Given the description of an element on the screen output the (x, y) to click on. 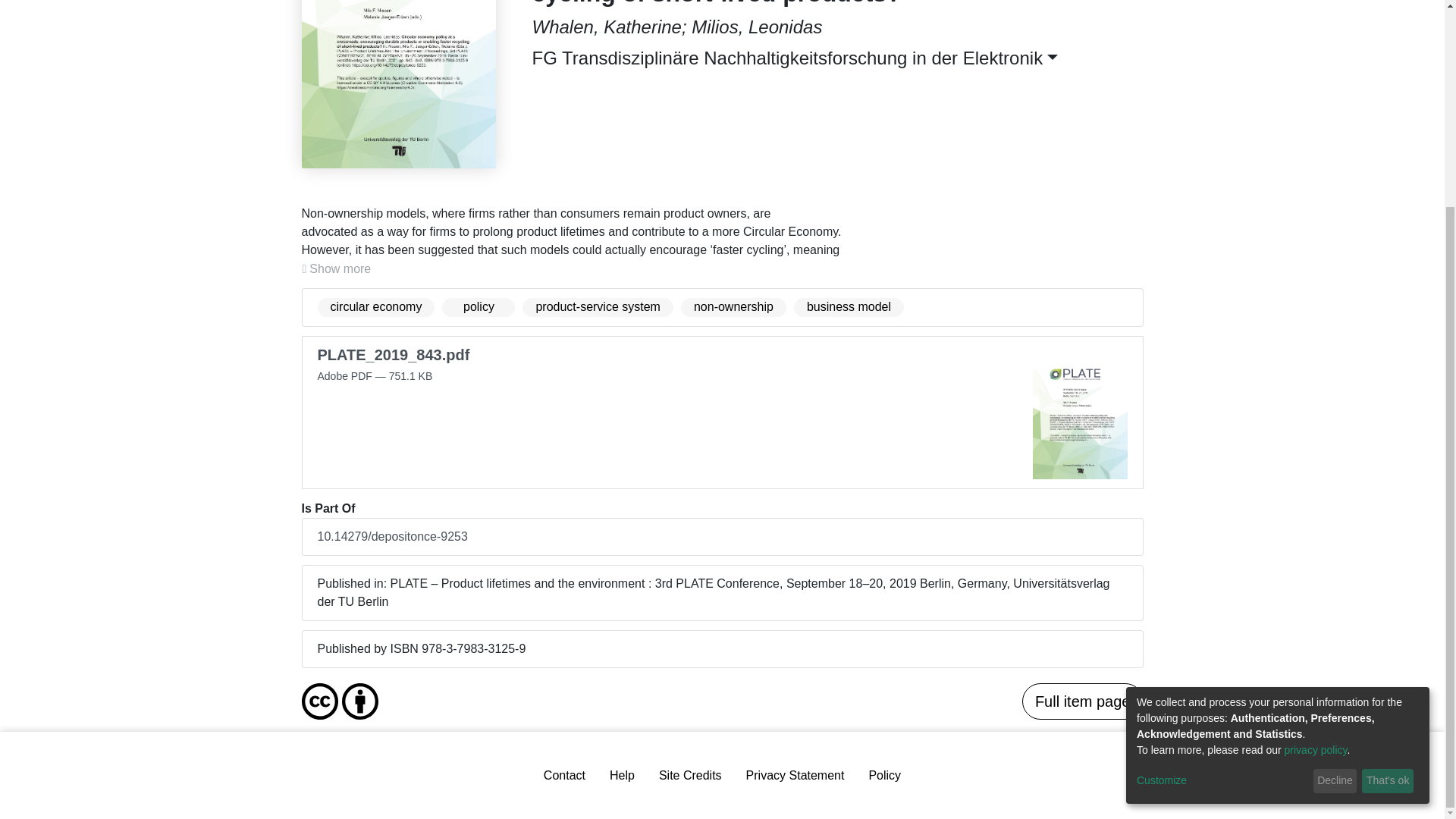
business model (848, 307)
Full item page (1082, 701)
circular economy (375, 307)
Site Credits (689, 775)
Help (621, 775)
policy (478, 307)
Milios, Leonidas (756, 26)
product-service system (597, 307)
non-ownership (733, 307)
Show more (336, 269)
Contact (563, 775)
Policy (884, 775)
Whalen, Katherine (606, 26)
Privacy Statement (795, 775)
